Given the description of an element on the screen output the (x, y) to click on. 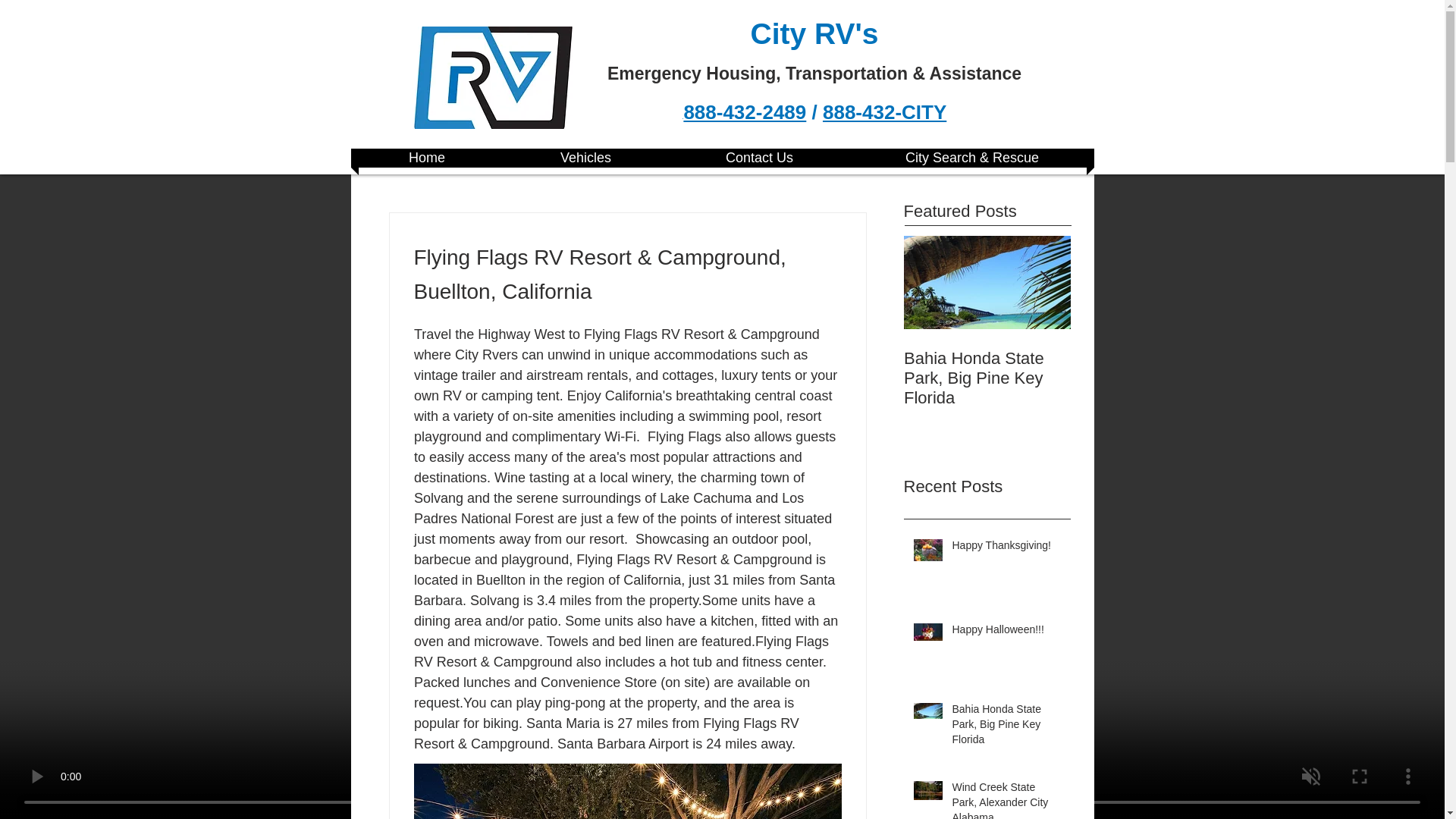
888-432-2489 (744, 111)
Contact Us (759, 157)
Bahia Honda State Park, Big Pine Key Florida (987, 377)
City RV's (815, 33)
Home (426, 157)
Vehicles (585, 157)
888-432-CITY (884, 111)
